Given the description of an element on the screen output the (x, y) to click on. 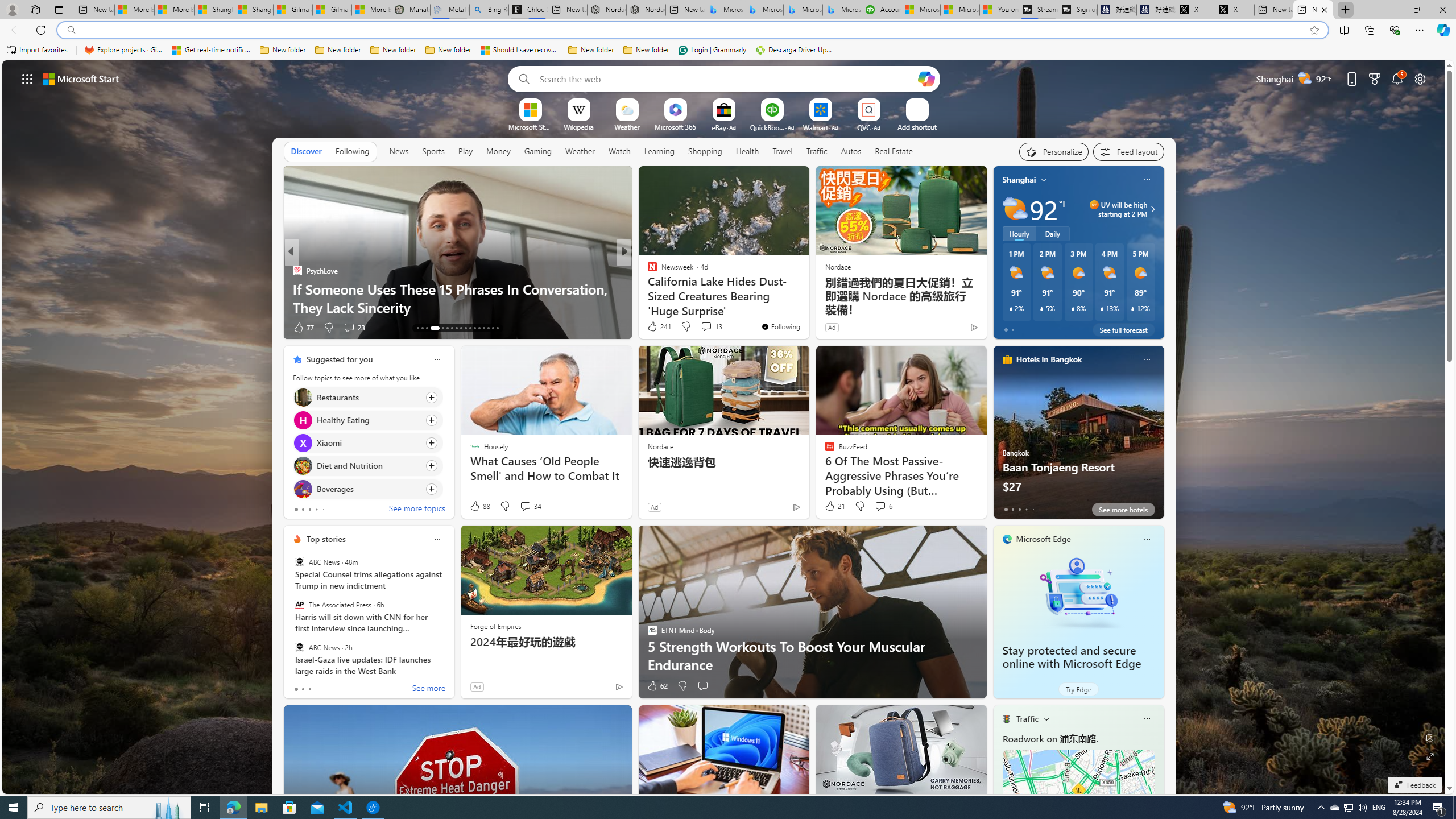
21 Like (834, 505)
The Independent (647, 270)
AutomationID: tab-14 (422, 328)
UV will be high starting at 2 PM (1150, 208)
AutomationID: tab-18 (446, 328)
AutomationID: waffle (27, 78)
15 Like (652, 327)
Suggested for you (338, 359)
AutomationID: tab-17 (440, 328)
nki.no (651, 270)
